Given the description of an element on the screen output the (x, y) to click on. 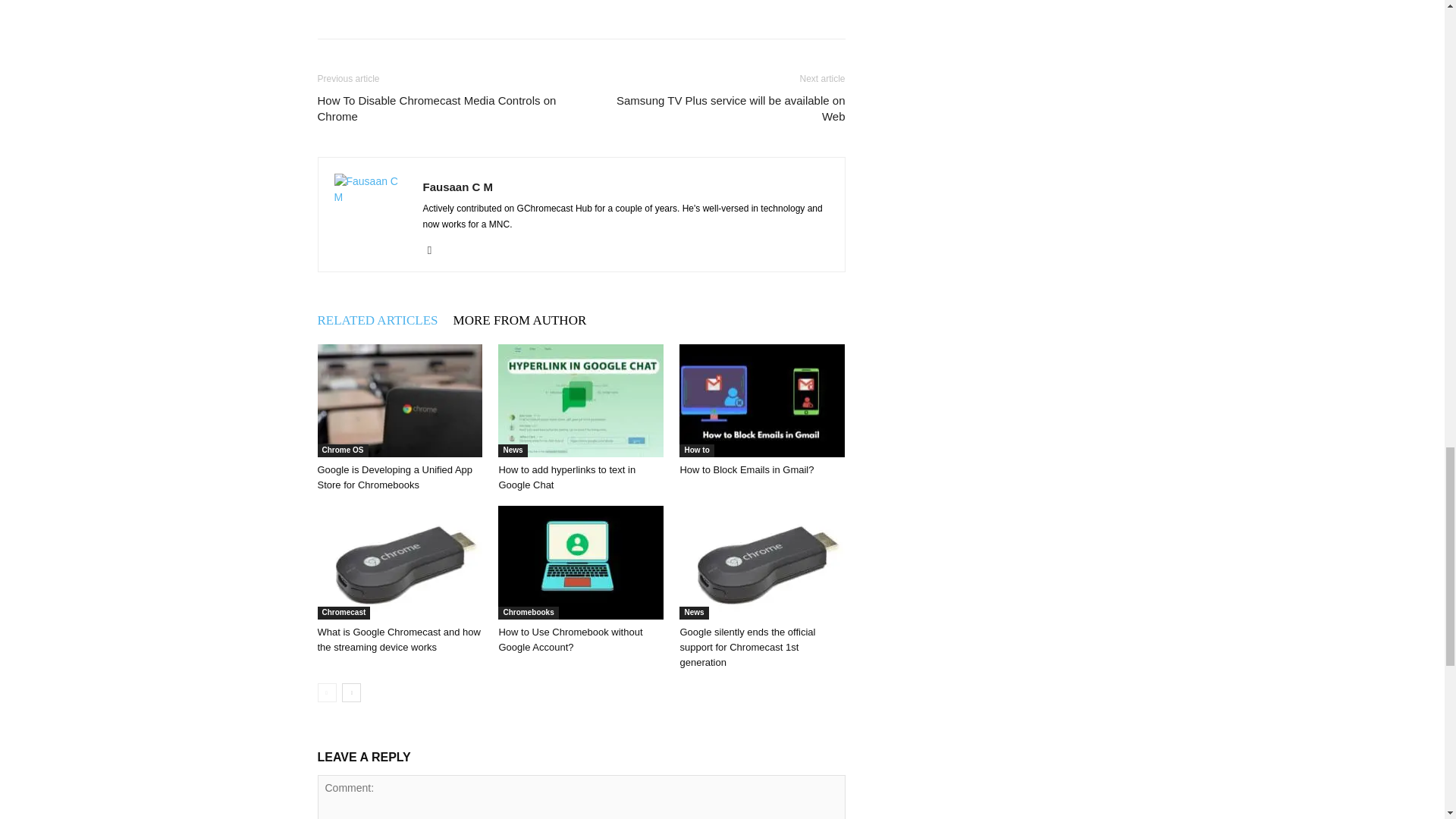
Mail (435, 249)
